Given the description of an element on the screen output the (x, y) to click on. 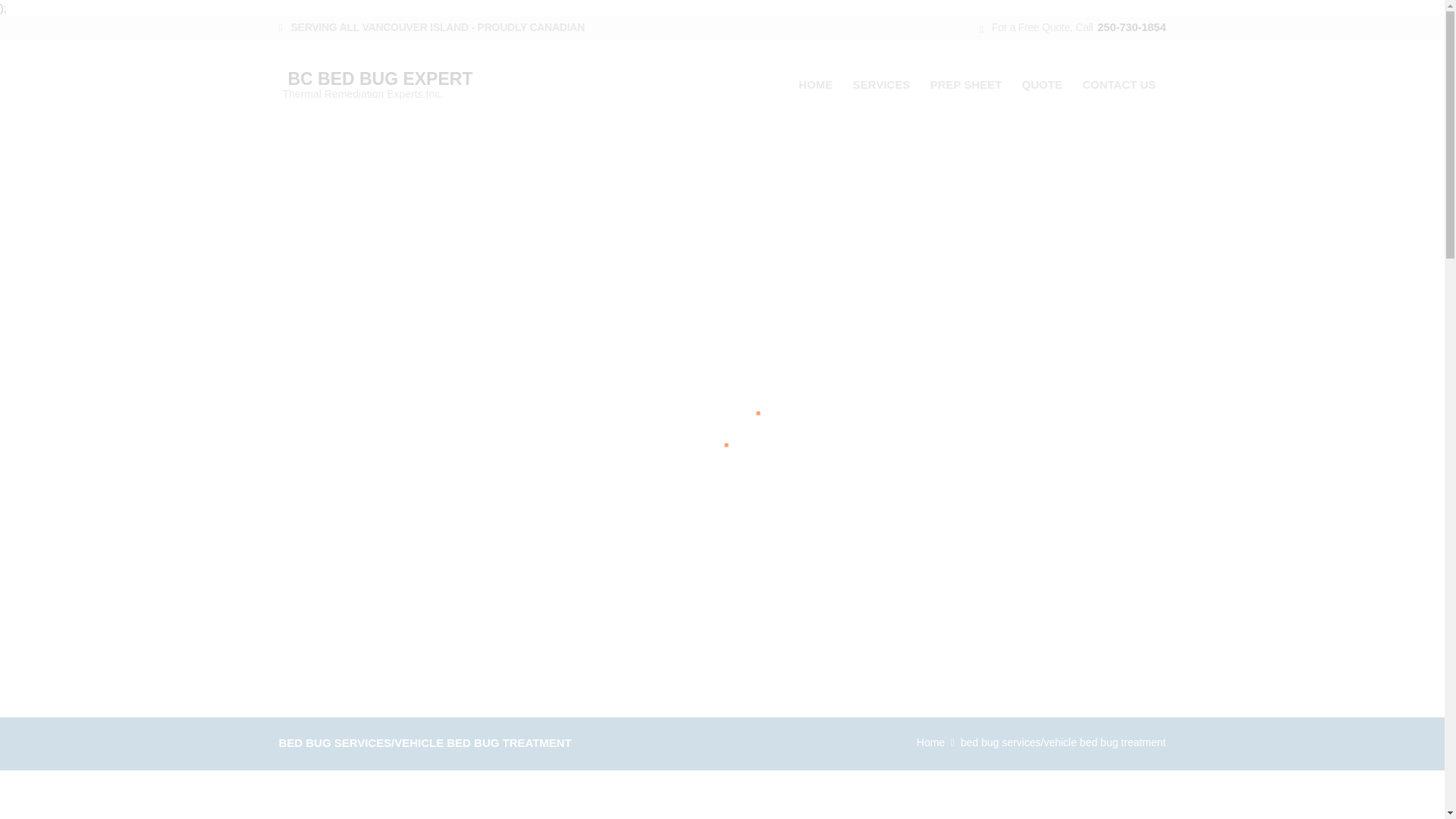
HOME (816, 84)
Home (930, 742)
CONTACT US (1118, 84)
PREP SHEET (965, 84)
SERVICES (881, 84)
QUOTE (395, 81)
